Given the description of an element on the screen output the (x, y) to click on. 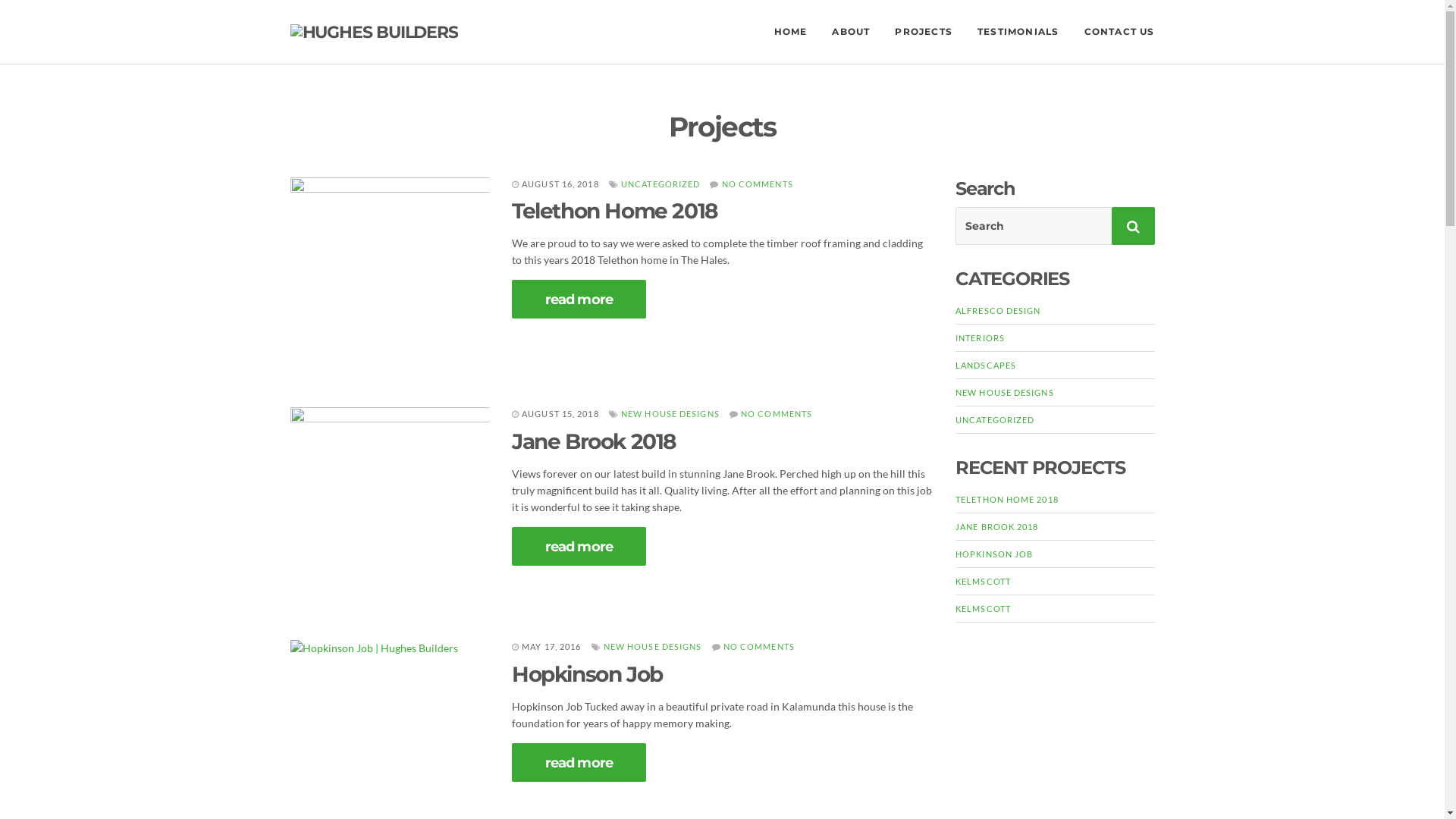
HOME Element type: text (790, 32)
HOPKINSON JOB Element type: text (1054, 553)
KELMSCOTT Element type: text (1054, 608)
NO COMMENTS Element type: text (776, 413)
TESTIMONIALS Element type: text (1017, 32)
KELMSCOTT Element type: text (1054, 581)
INTERIORS Element type: text (1054, 337)
read more Element type: text (578, 298)
NEW HOUSE DESIGNS Element type: text (1054, 392)
read more Element type: text (578, 762)
JANE BROOK 2018 Element type: text (1054, 526)
NEW HOUSE DESIGNS Element type: text (652, 646)
Telethon Home 2018 Element type: text (614, 210)
NO COMMENTS Element type: text (757, 183)
ABOUT Element type: text (850, 32)
Jane Brook 2018 Element type: text (593, 441)
TELETHON HOME 2018 Element type: text (1054, 499)
CONTACT US Element type: text (1119, 32)
UNCATEGORIZED Element type: text (1054, 419)
Hopkinson Job Element type: text (586, 674)
NEW HOUSE DESIGNS Element type: text (670, 413)
UNCATEGORIZED Element type: text (660, 183)
ALFRESCO DESIGN Element type: text (1054, 310)
read more Element type: text (578, 546)
LANDSCAPES Element type: text (1054, 365)
PROJECTS Element type: text (923, 32)
NO COMMENTS Element type: text (758, 646)
Search Element type: text (1132, 225)
